Given the description of an element on the screen output the (x, y) to click on. 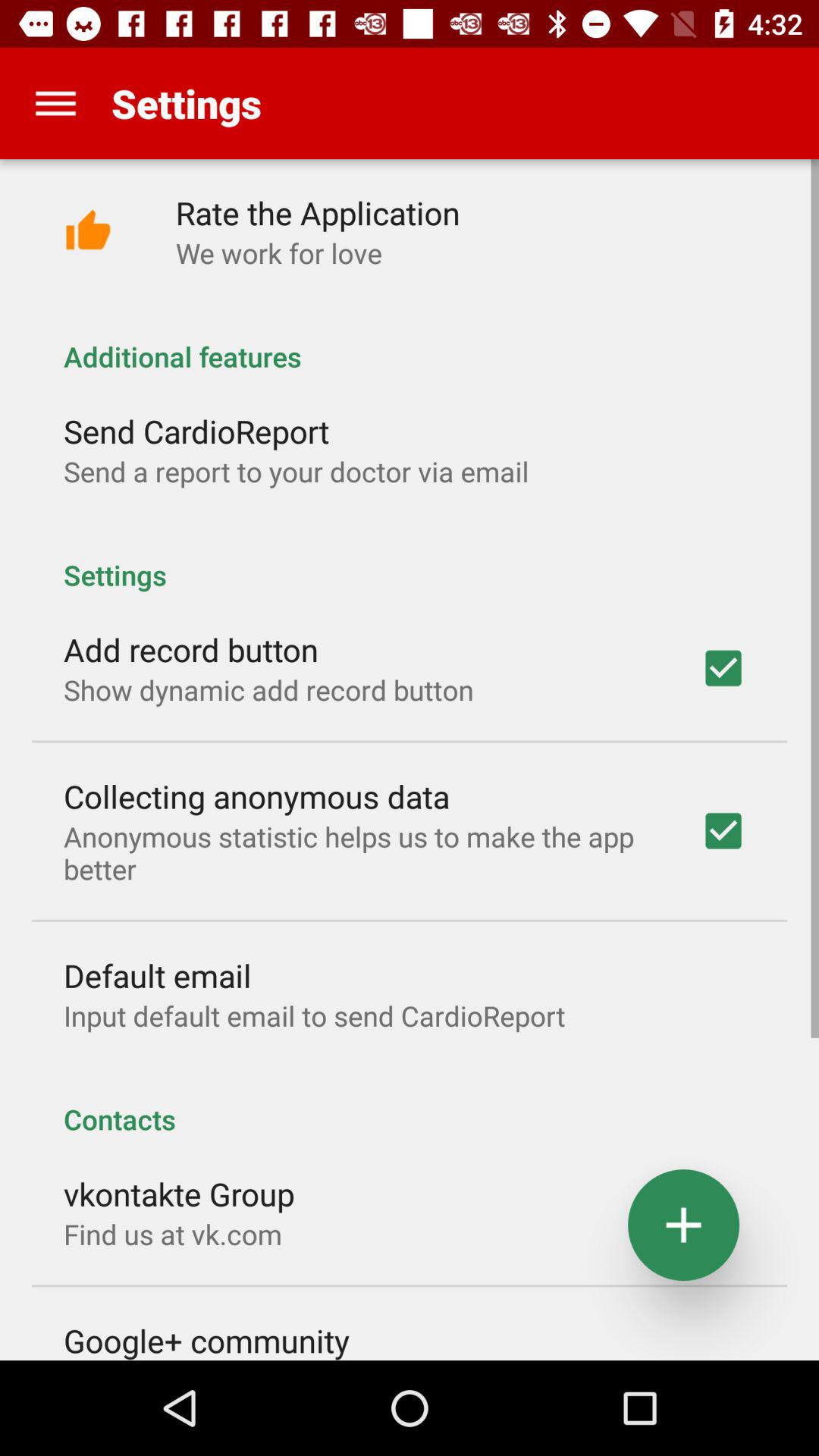
scroll until the rate the application (317, 212)
